Given the description of an element on the screen output the (x, y) to click on. 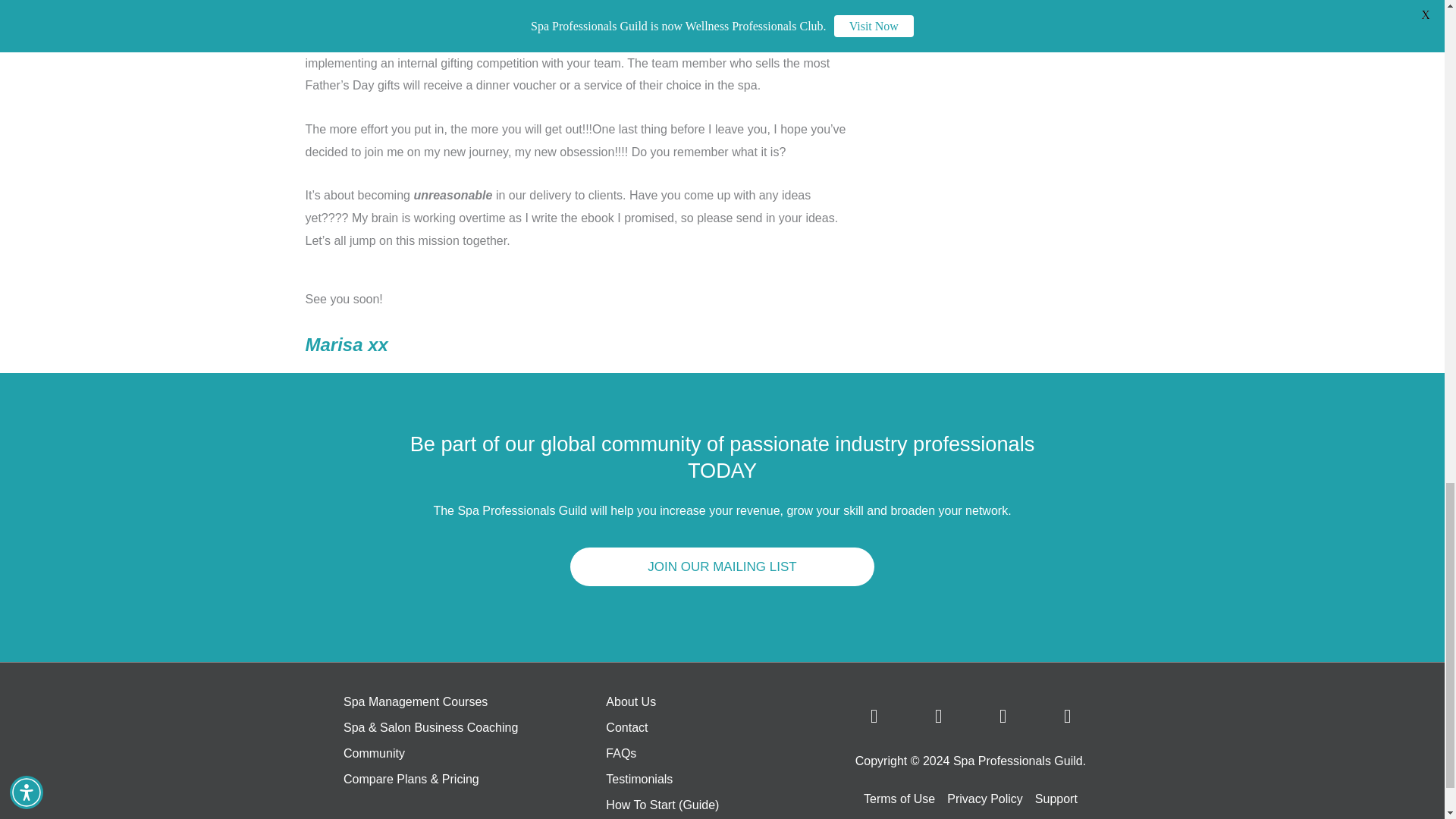
Spa Management Courses (460, 701)
JOIN OUR MAILING LIST (721, 566)
About Us (709, 701)
FAQs (709, 753)
Community (460, 753)
Contact (709, 727)
Testimonials (709, 779)
